Given the description of an element on the screen output the (x, y) to click on. 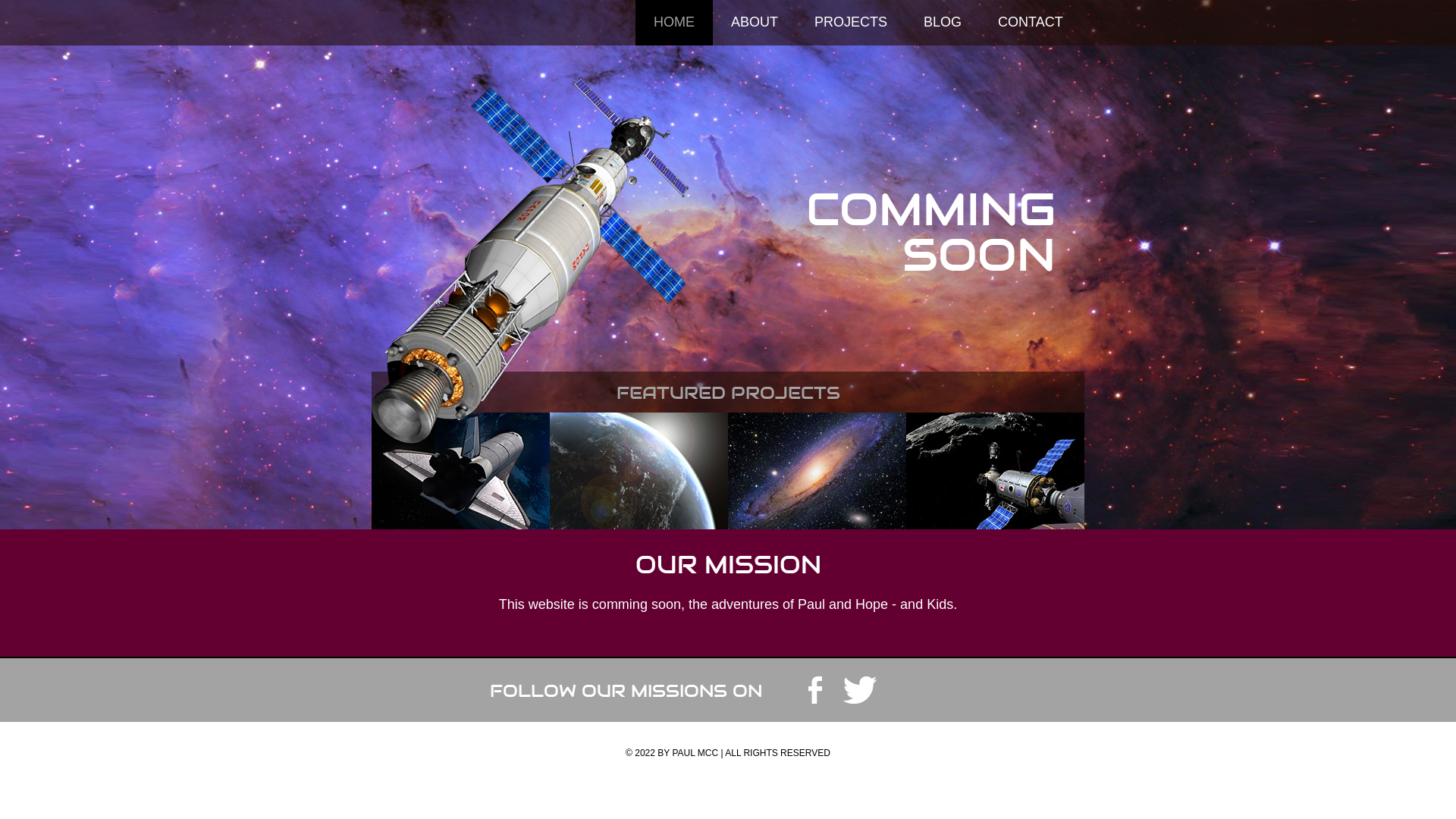
BLOG Element type: text (942, 22)
HOME Element type: text (673, 22)
facebook Element type: text (815, 689)
twitter Element type: text (859, 689)
ABOUT Element type: text (754, 22)
CONTACT Element type: text (1030, 22)
PROJECTS Element type: text (850, 22)
